Given the description of an element on the screen output the (x, y) to click on. 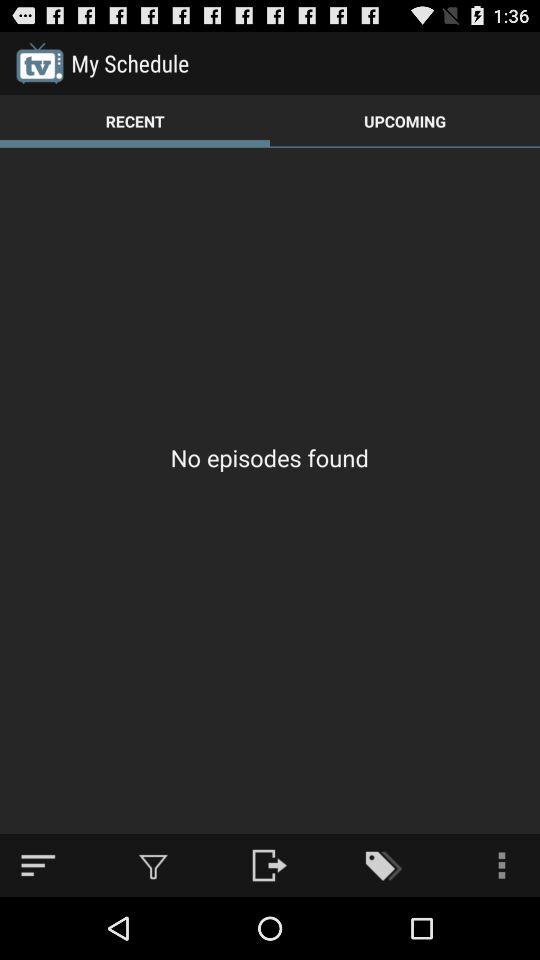
launch the app above no episodes found (405, 120)
